Given the description of an element on the screen output the (x, y) to click on. 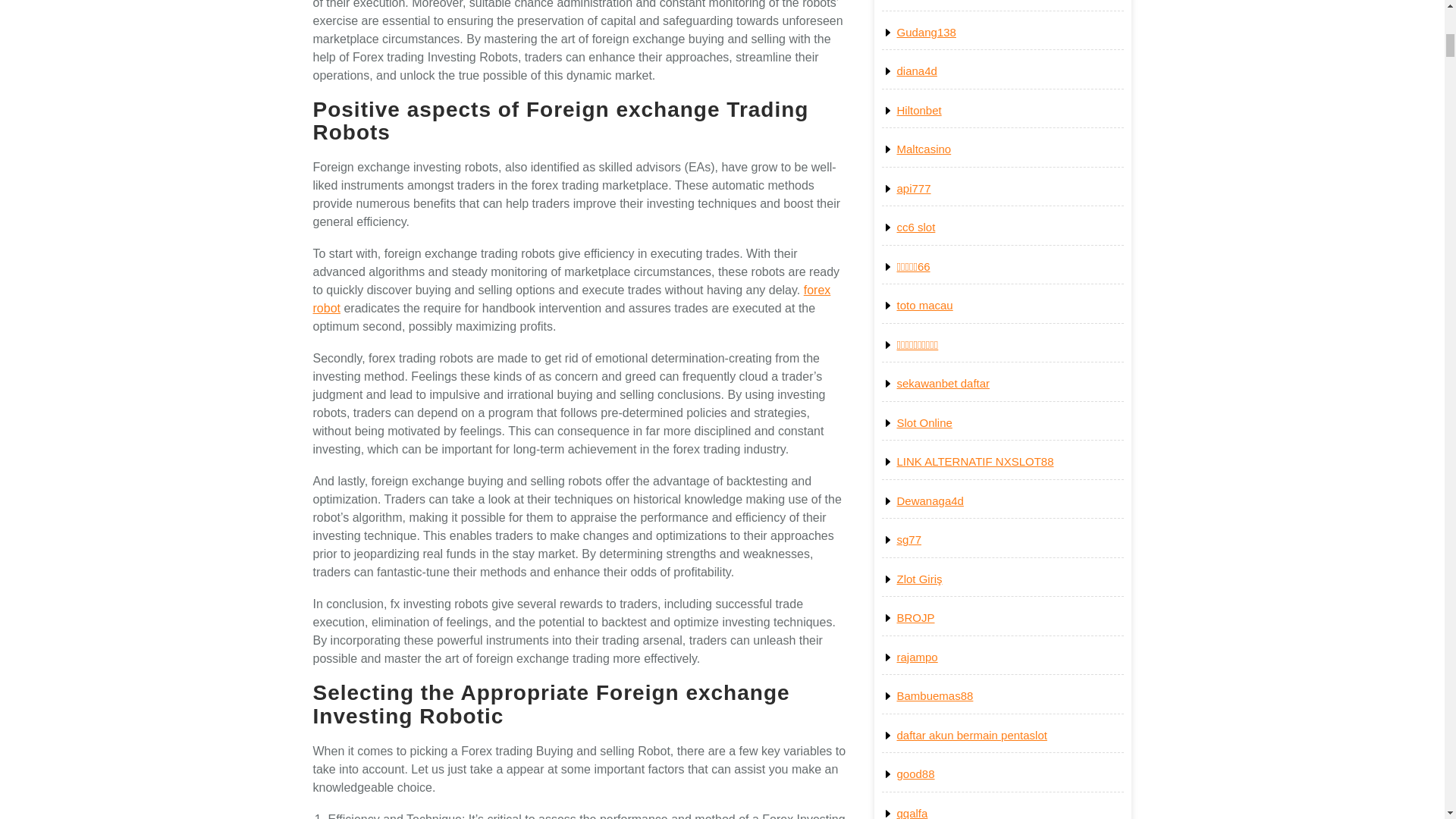
sg77 (908, 539)
cc6 slot (915, 226)
BROJP (915, 617)
toto macau (924, 305)
Bambuemas88 (934, 695)
Dewanaga4d (929, 500)
LINK ALTERNATIF NXSLOT88 (974, 461)
daftar akun bermain pentaslot (971, 735)
Slot Online (924, 422)
Gudang138 (925, 31)
rajampo (916, 656)
diana4d (916, 70)
Hiltonbet (918, 110)
api777 (913, 187)
Maltcasino (923, 148)
